Given the description of an element on the screen output the (x, y) to click on. 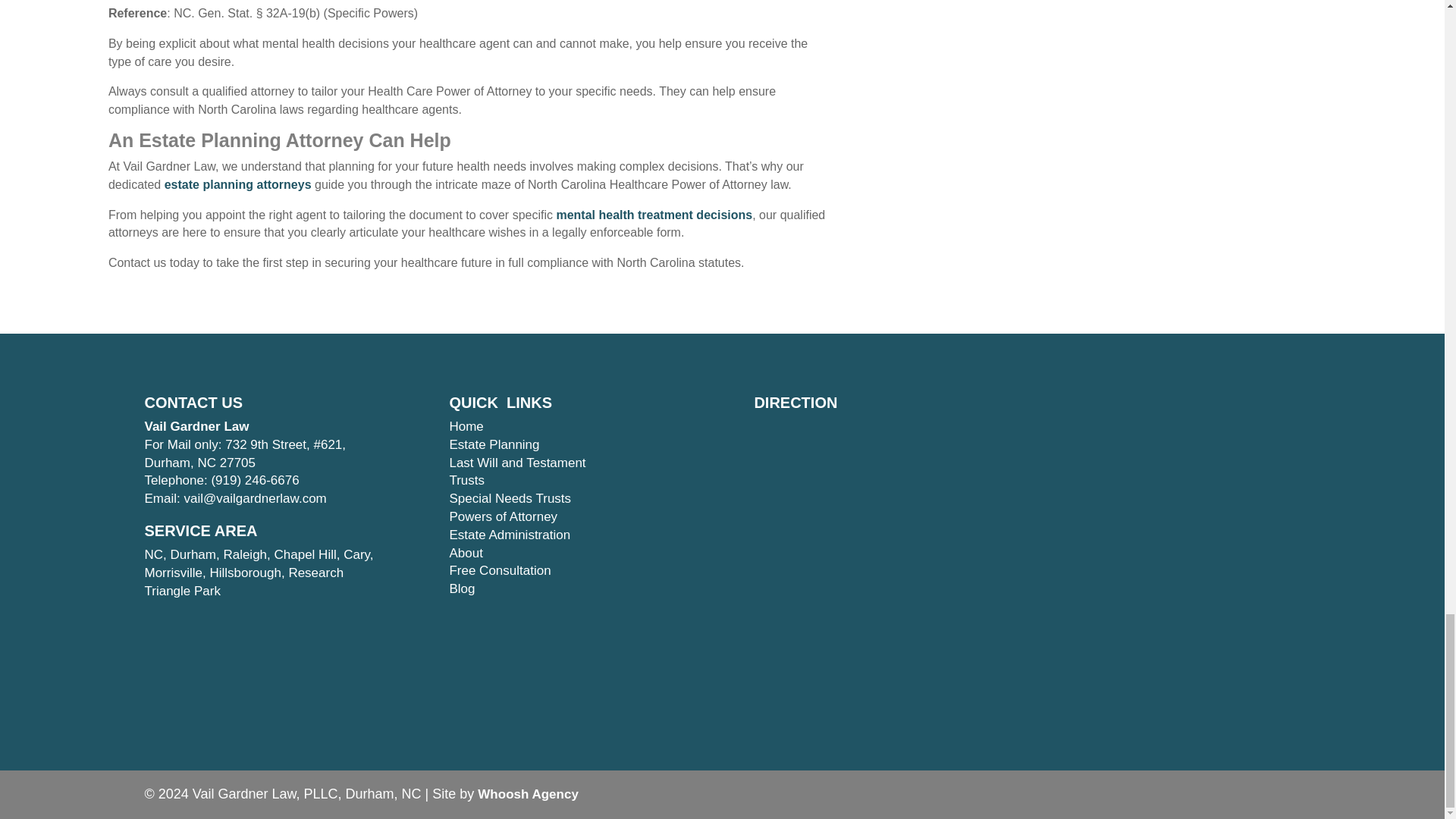
Estate Planning (493, 444)
mental health treatment decisions (654, 214)
Special Needs Trusts (509, 498)
Estate Administration (509, 534)
Last Will and Testament (516, 462)
Free Consultation (499, 570)
Powers of Attorney (502, 516)
Trusts (466, 480)
Home (465, 426)
estate planning attorneys (237, 184)
About (464, 553)
